Given the description of an element on the screen output the (x, y) to click on. 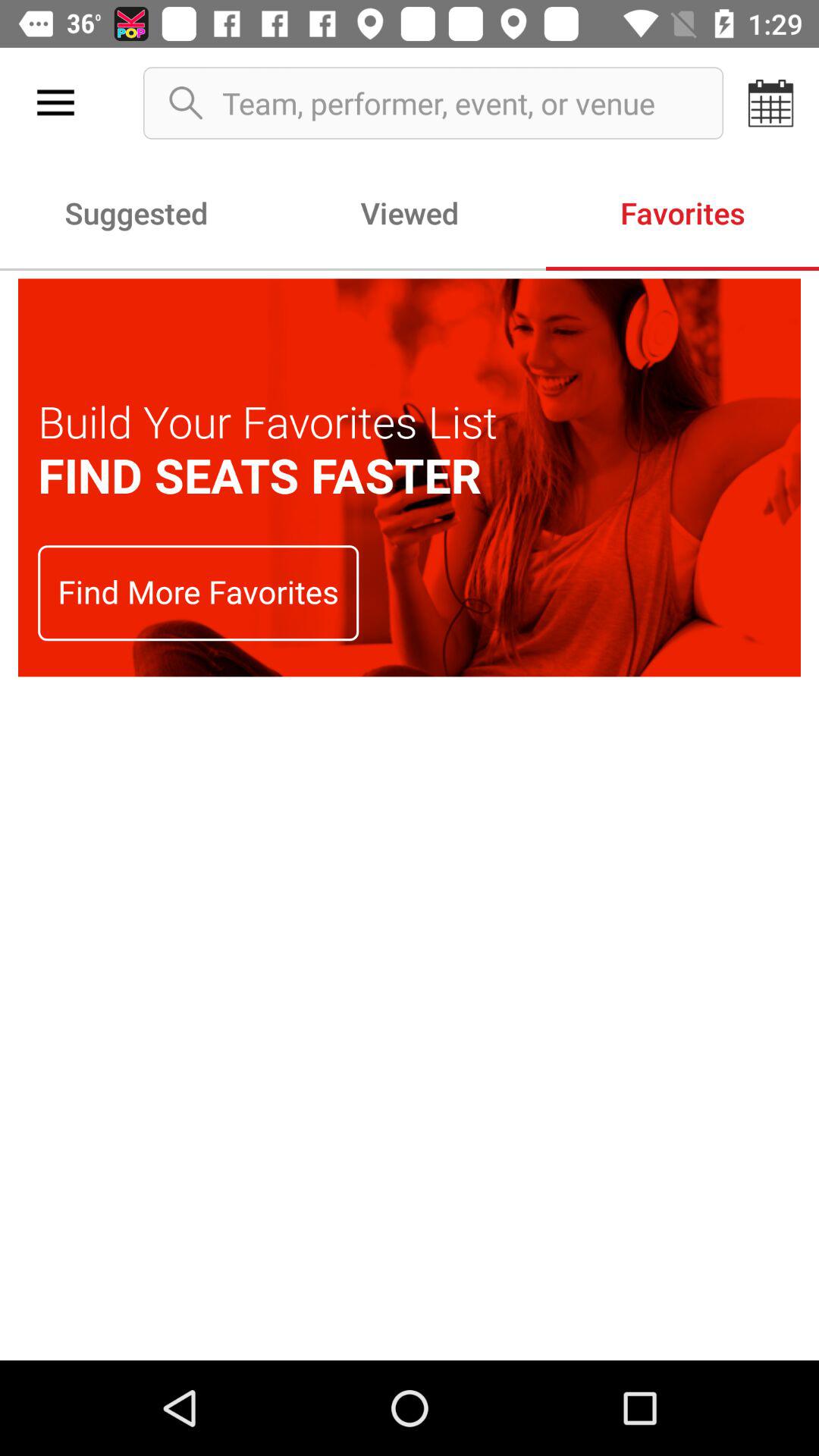
open the icon next to the favorites icon (409, 212)
